Given the description of an element on the screen output the (x, y) to click on. 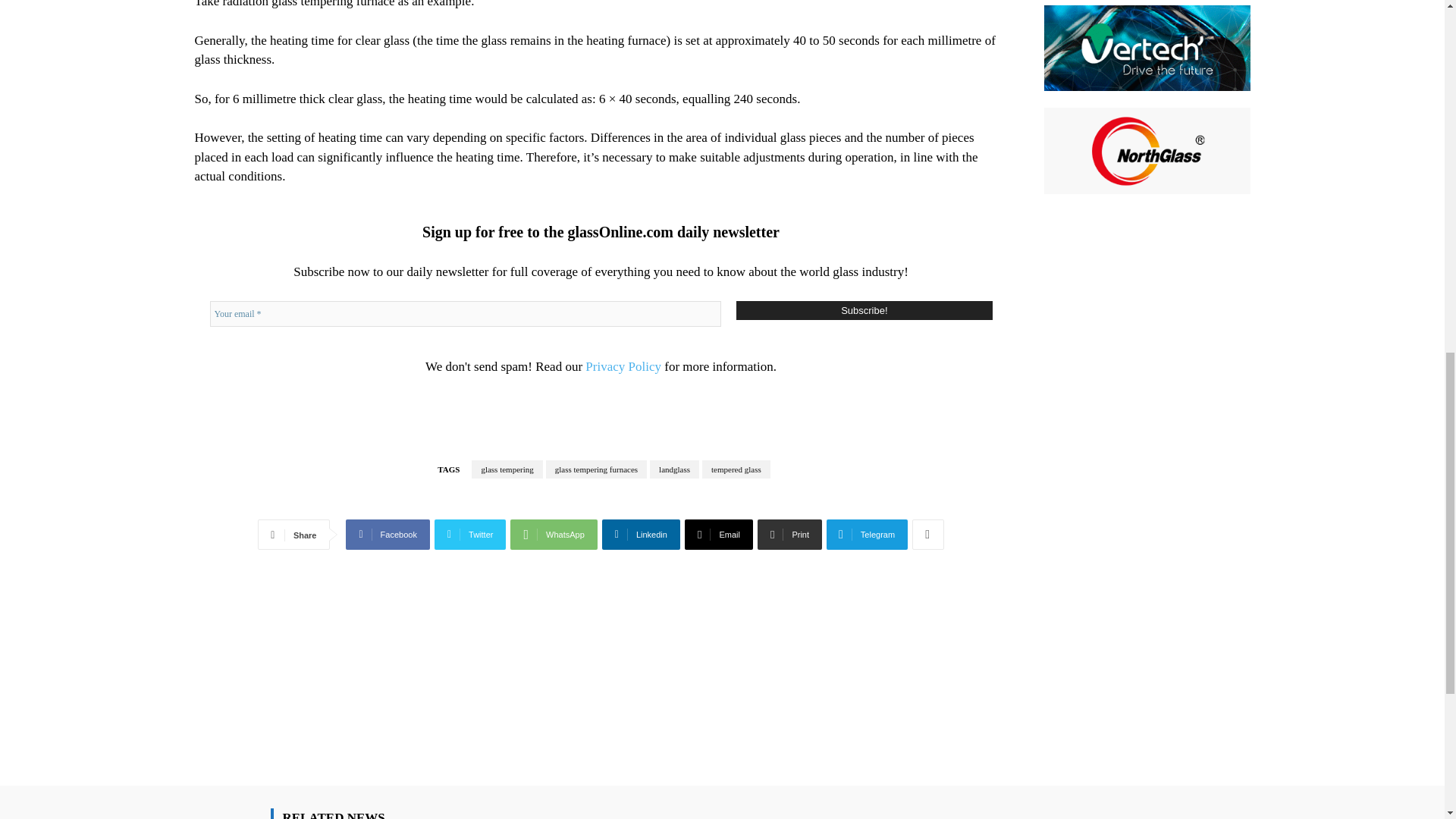
Email (718, 534)
Twitter (469, 534)
WhatsApp (553, 534)
Your email (464, 313)
Subscribe! (863, 310)
Linkedin (640, 534)
Facebook (387, 534)
Print (789, 534)
